Given the description of an element on the screen output the (x, y) to click on. 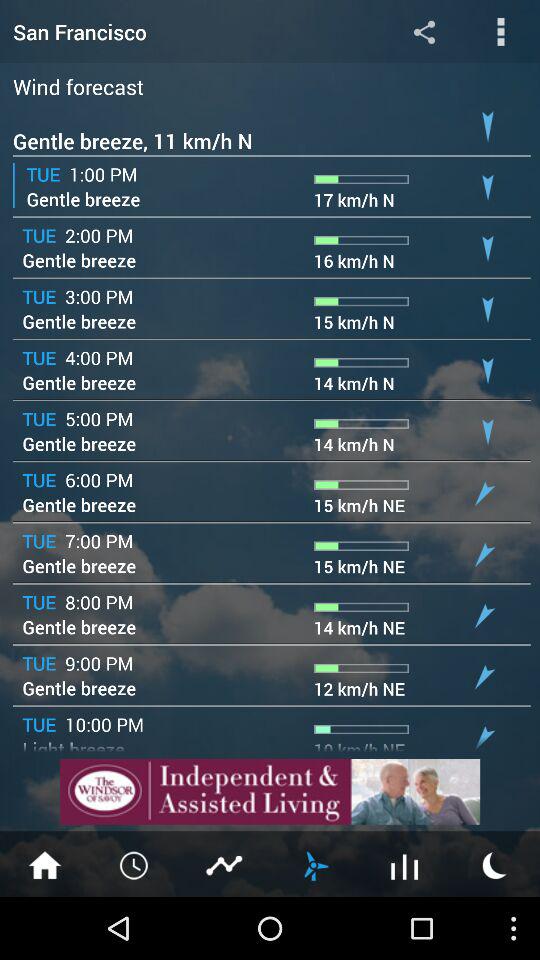
show wind levels (315, 864)
